Given the description of an element on the screen output the (x, y) to click on. 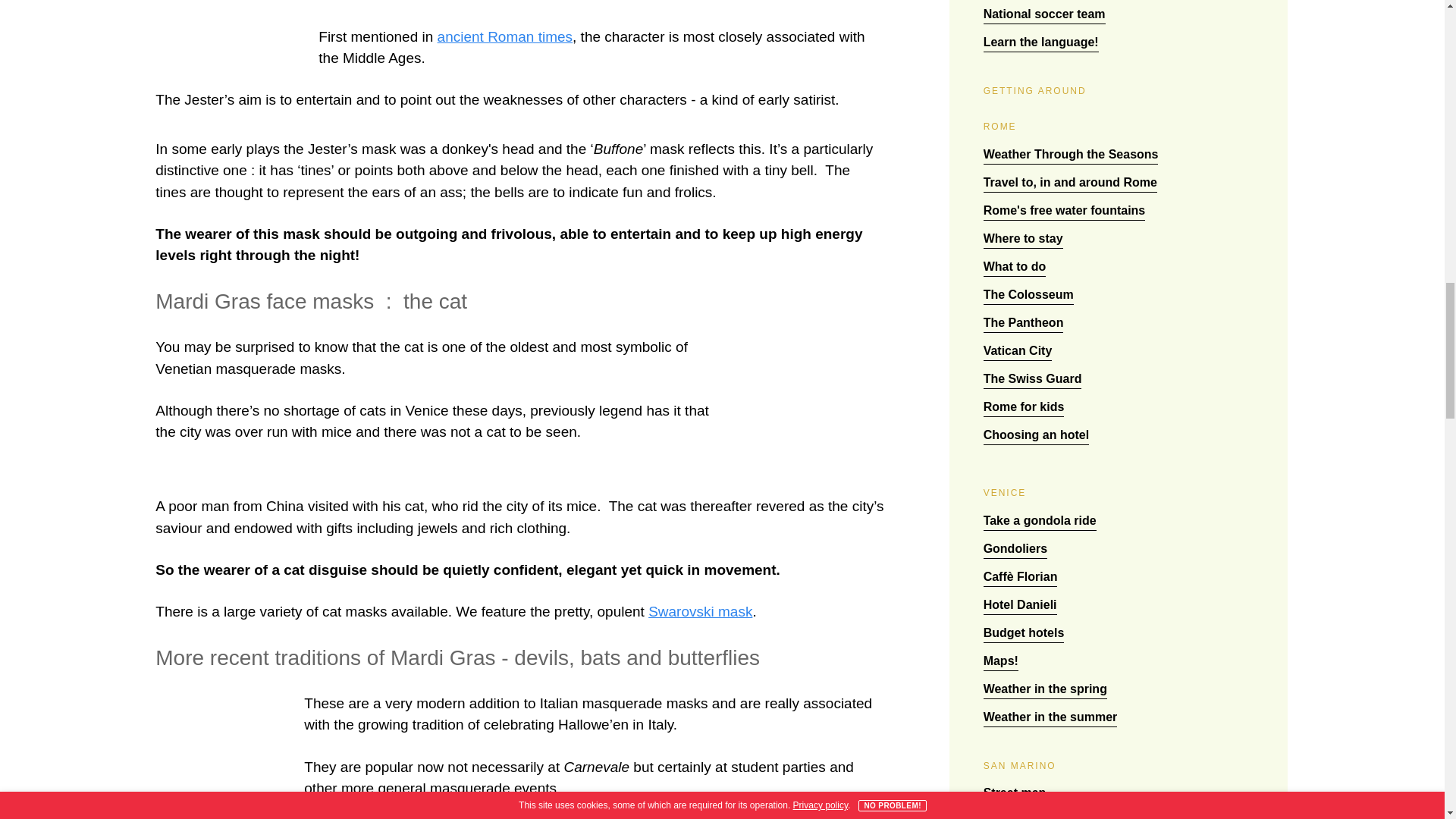
Mardi Gras face mask The Jester (231, 27)
Mardi Gras face mask the cat (807, 405)
Mardi Gras face masks the bat (223, 755)
